Given the description of an element on the screen output the (x, y) to click on. 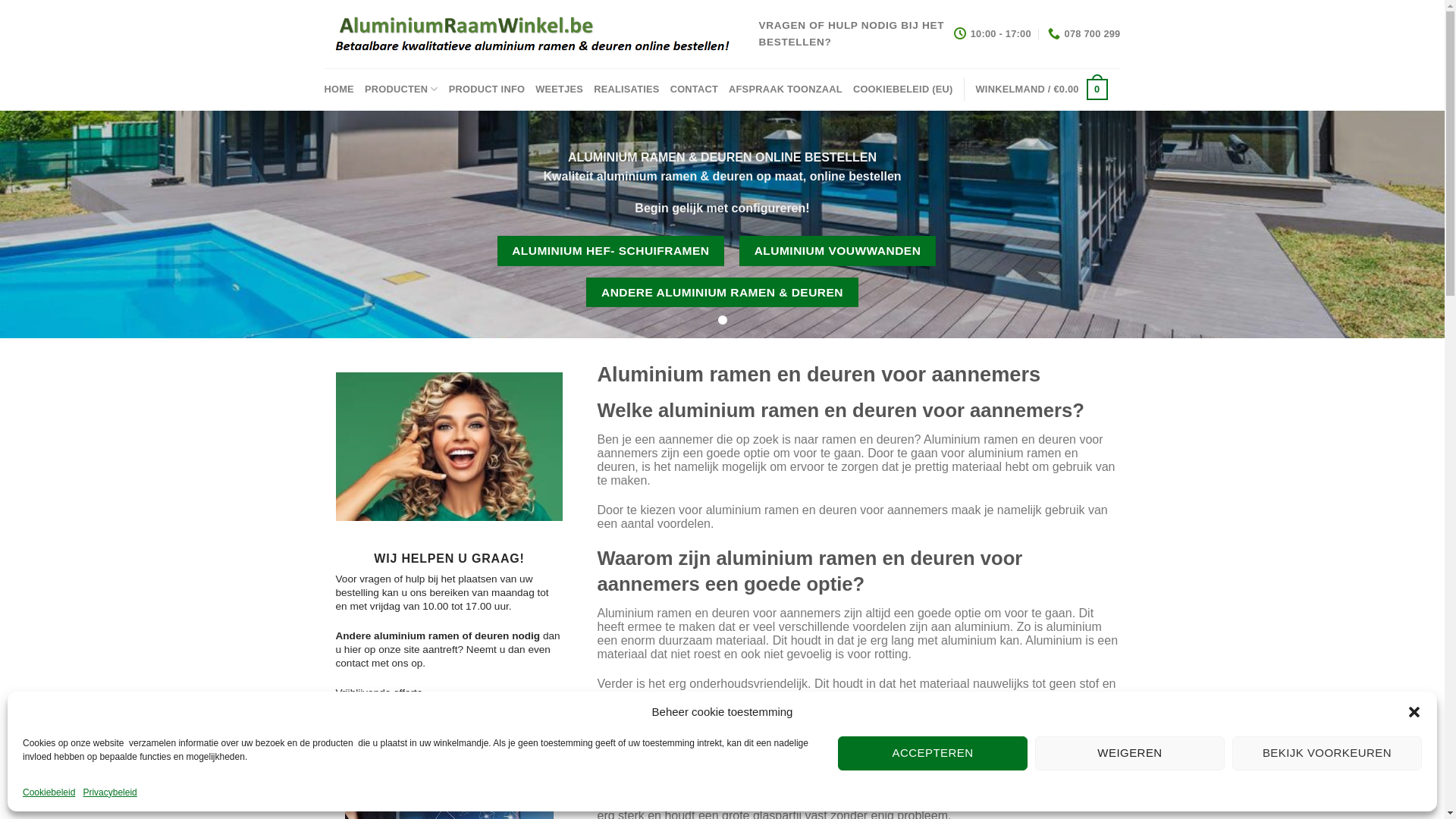
ALUMINIUM HEF- SCHUIFRAMEN Element type: text (610, 250)
PRODUCT INFO Element type: text (486, 89)
Aluminiumraamwinkel - Beste kwaltiteit en toch betaalbaar Element type: hover (530, 34)
ACCEPTEREN Element type: text (932, 753)
HOME Element type: text (339, 89)
BEKIJK VOORKEUREN Element type: text (1326, 753)
ANDERE ALUMINIUM RAMEN & DEUREN Element type: text (721, 292)
Privacybeleid Element type: text (109, 792)
10:00 - 17:00 Element type: text (991, 33)
078 700 299 Element type: text (1084, 33)
Cookiebeleid Element type: text (48, 792)
PRODUCTEN Element type: text (401, 89)
WEIGEREN Element type: text (1129, 753)
REALISATIES Element type: text (625, 89)
ALUMINIUM VOUWWANDEN Element type: text (837, 250)
WEETJES Element type: text (559, 89)
COOKIEBELEID (EU) Element type: text (903, 89)
AFSPRAAK TOONZAAL Element type: text (785, 89)
CONTACT Element type: text (694, 89)
